Given the description of an element on the screen output the (x, y) to click on. 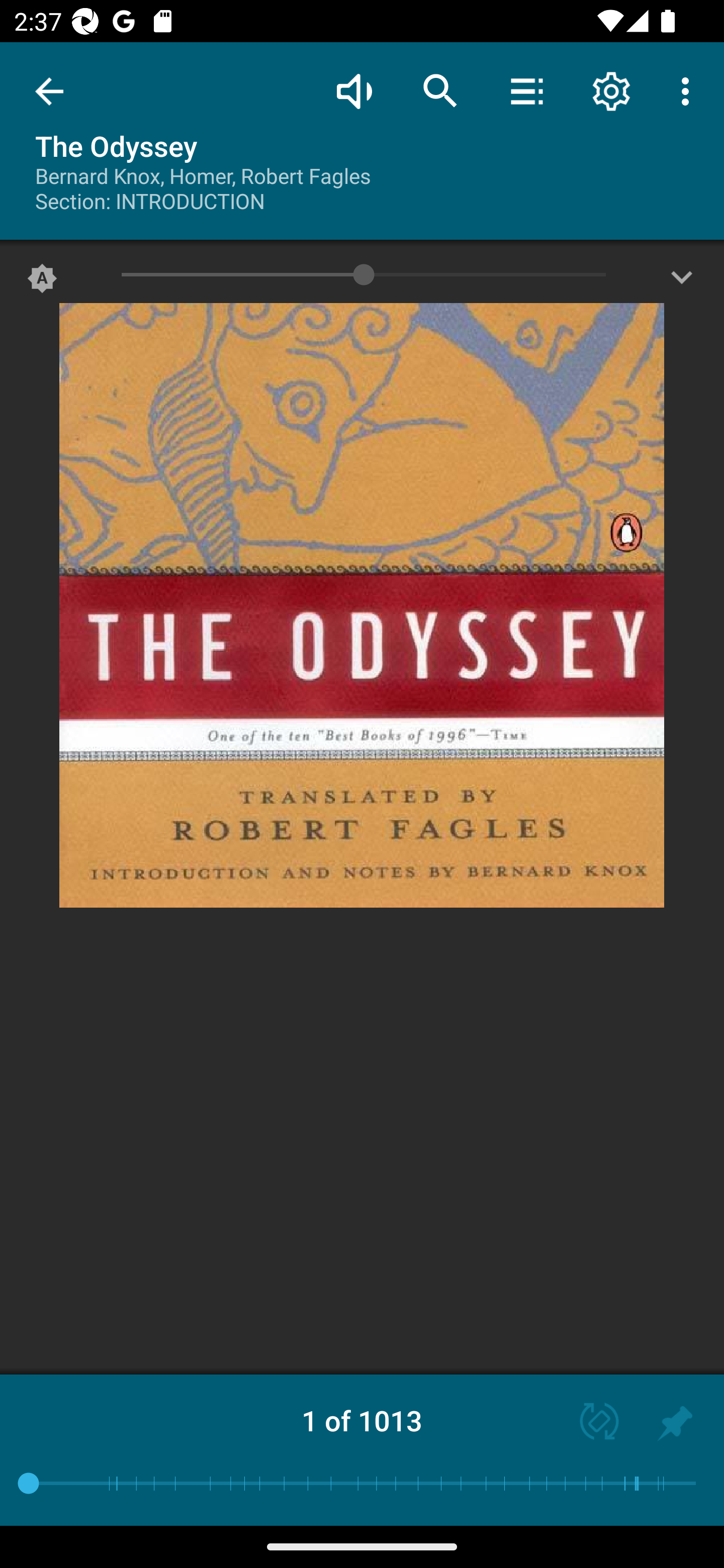
Exit reading (49, 91)
Read aloud (354, 90)
Text search (440, 90)
Contents / Bookmarks / Quotes (526, 90)
Reading settings (611, 90)
More options (688, 90)
Selected screen brightness (42, 281)
Screen brightness settings (681, 281)
1 of 1013 (361, 1420)
Screen orientation (590, 1423)
Add to history (674, 1423)
